Given the description of an element on the screen output the (x, y) to click on. 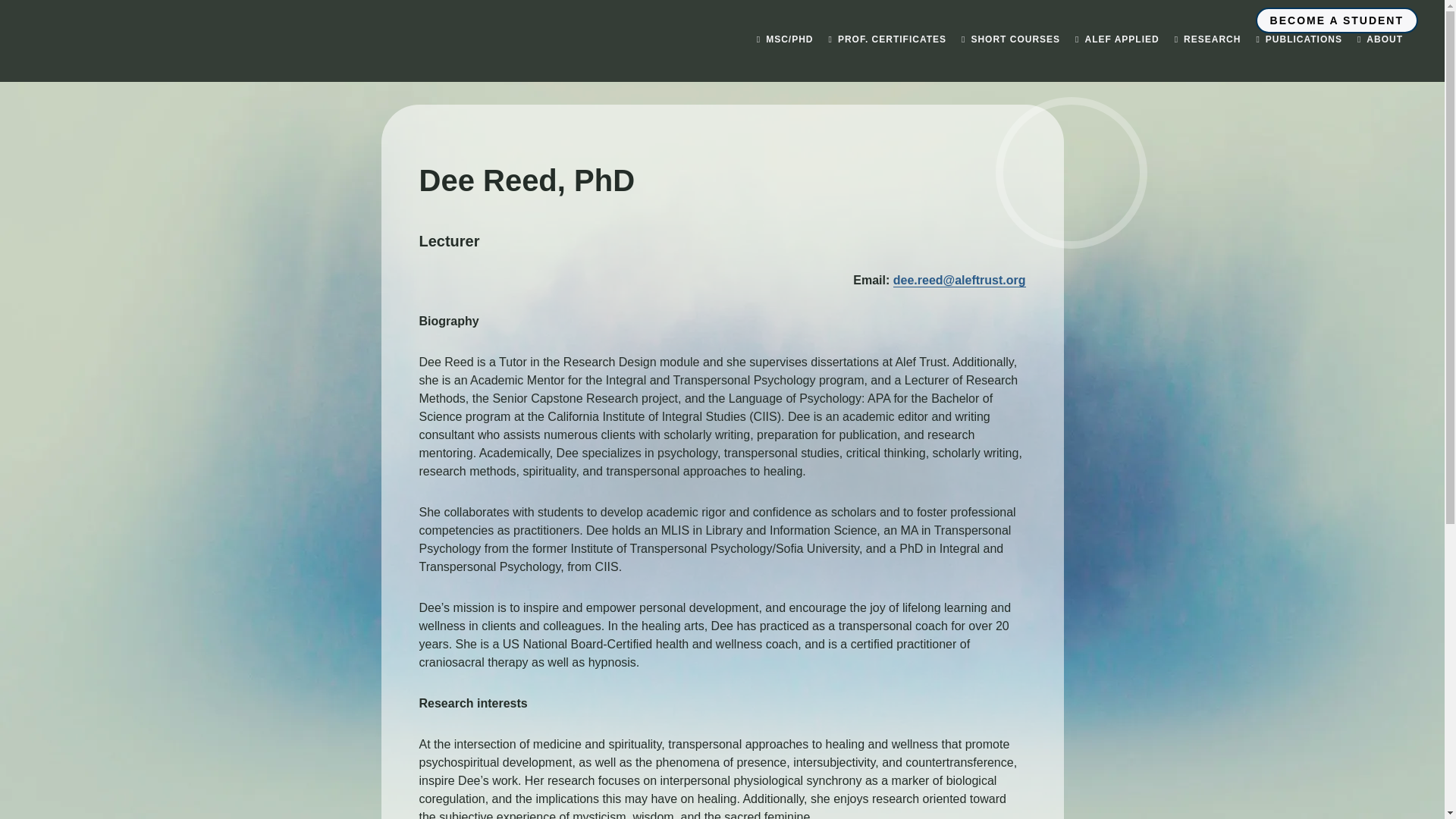
SHORT COURSES (1010, 38)
ALEF APPLIED (1117, 38)
RESEARCH (1208, 38)
PROF. CERTIFICATES (887, 38)
PUBLICATIONS (1298, 38)
Dee Reed (1070, 172)
BECOME A STUDENT (1336, 20)
